Given the description of an element on the screen output the (x, y) to click on. 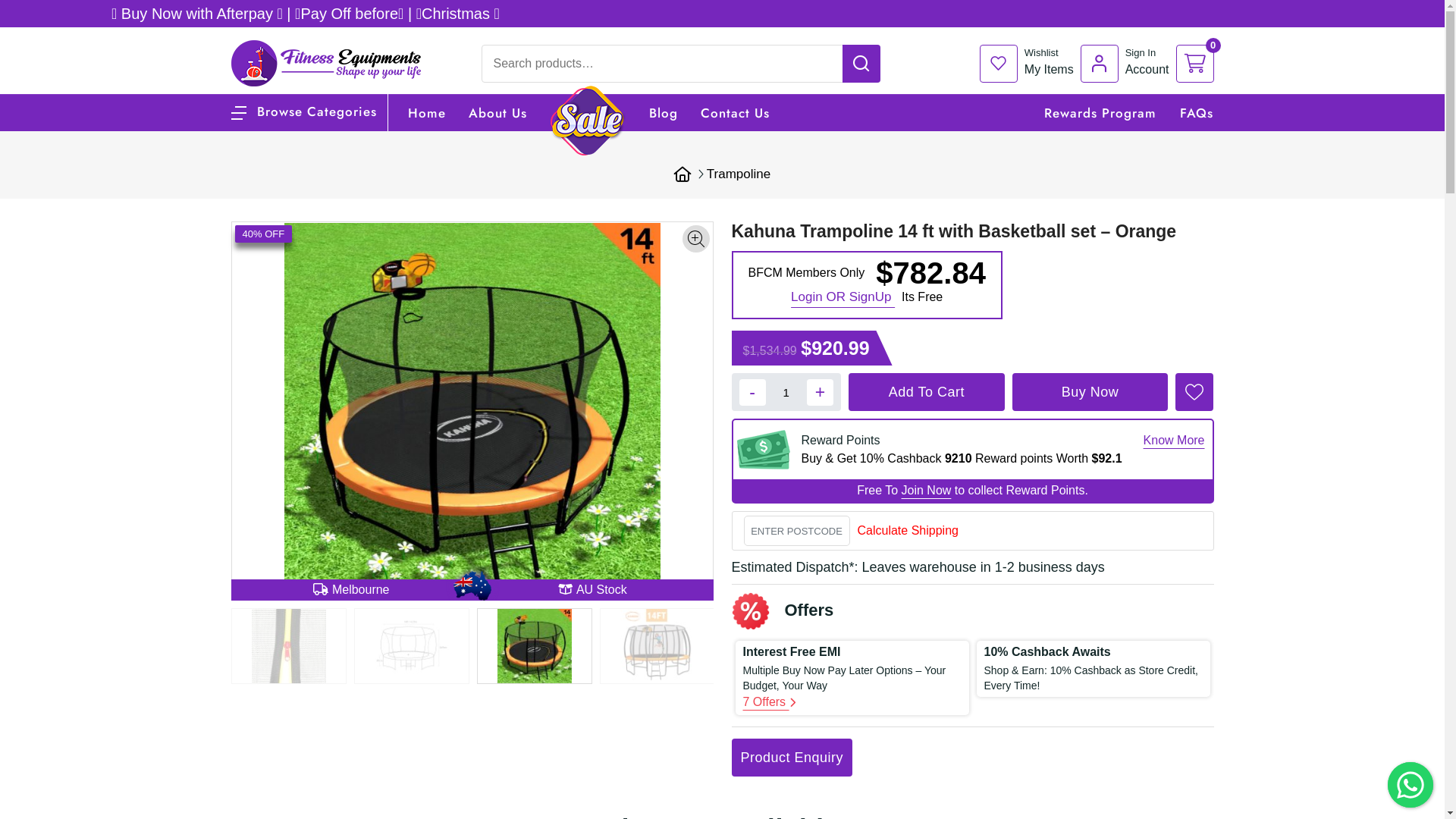
7 Offers Element type: text (769, 701)
Buy Now Element type: text (1090, 392)
View All Product Element type: text (1329, 11)
Browse Categories Element type: text (303, 111)
About Us Element type: text (497, 112)
tra-kah-14-or_Klika_1.jpg Element type: hover (656, 646)
Product Enquiry Element type: text (791, 757)
+ Element type: text (819, 392)
Join Now Element type: text (926, 489)
Blog Element type: text (663, 112)
Add To Cart Element type: text (926, 392)
Trampoline Element type: text (738, 173)
Sale Element type: text (587, 120)
Rewards Program Element type: text (1100, 112)
tra-kah-14-or_Klika_10.jpg Element type: hover (410, 646)
Contact Us Element type: text (734, 112)
tra-kah-16_klika_4.jpg Element type: hover (287, 646)
classic-orange-mat-1-bball-14ft.jpg Element type: hover (471, 410)
Home Element type: text (426, 112)
FAQs Element type: text (1196, 112)
- Element type: text (751, 392)
Wishlist
My Items Element type: text (1029, 62)
Know More Element type: text (1173, 440)
Login OR SignUp Element type: text (842, 296)
0 Element type: text (1194, 62)
classic-orange-mat-1-bball-14ft.jpg Element type: hover (533, 646)
Sign In
Account Element type: text (1128, 62)
Search Element type: text (1362, 17)
